Given the description of an element on the screen output the (x, y) to click on. 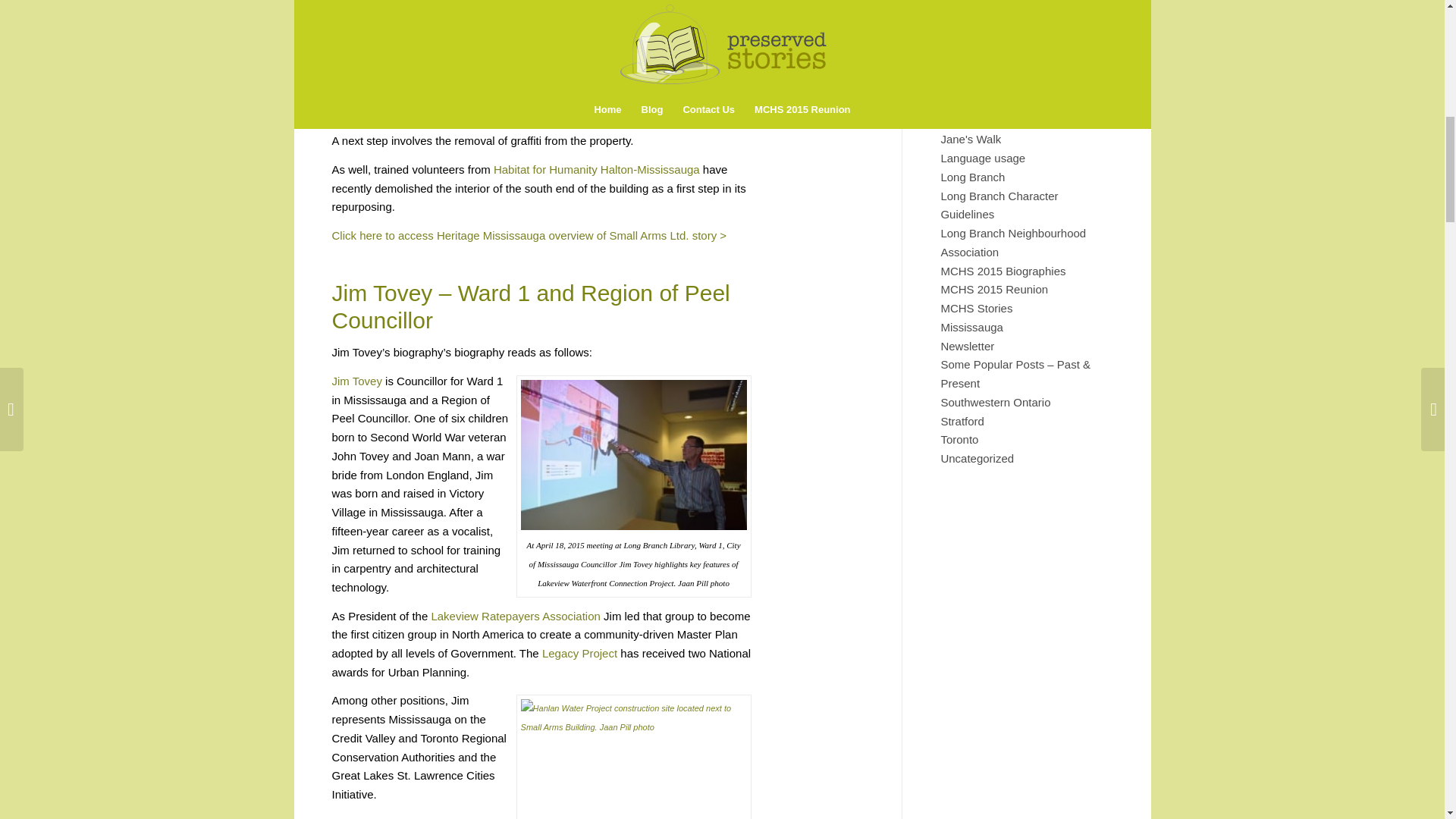
Habitat for Humanity Halton-Mississauga (596, 169)
List of sponsors: Small Arms Building repurposing project (436, 65)
Legacy Project (579, 653)
Lakeview Ratepayers Association (514, 615)
Jim Tovey (356, 380)
